Given the description of an element on the screen output the (x, y) to click on. 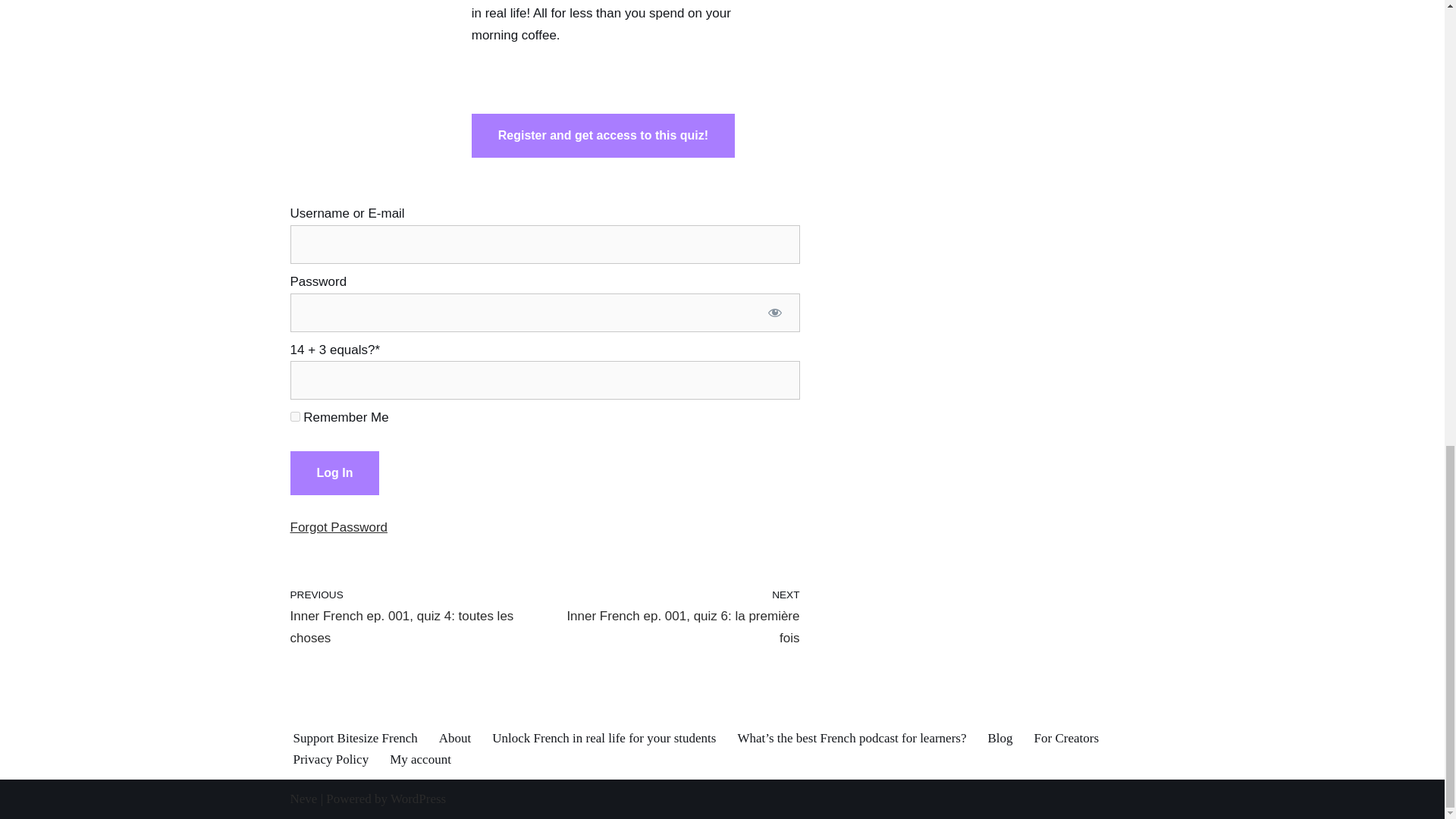
Log In (333, 473)
forever (294, 416)
Forgot Password (413, 617)
Register and get access to this quiz! (338, 527)
Log In (603, 135)
